Given the description of an element on the screen output the (x, y) to click on. 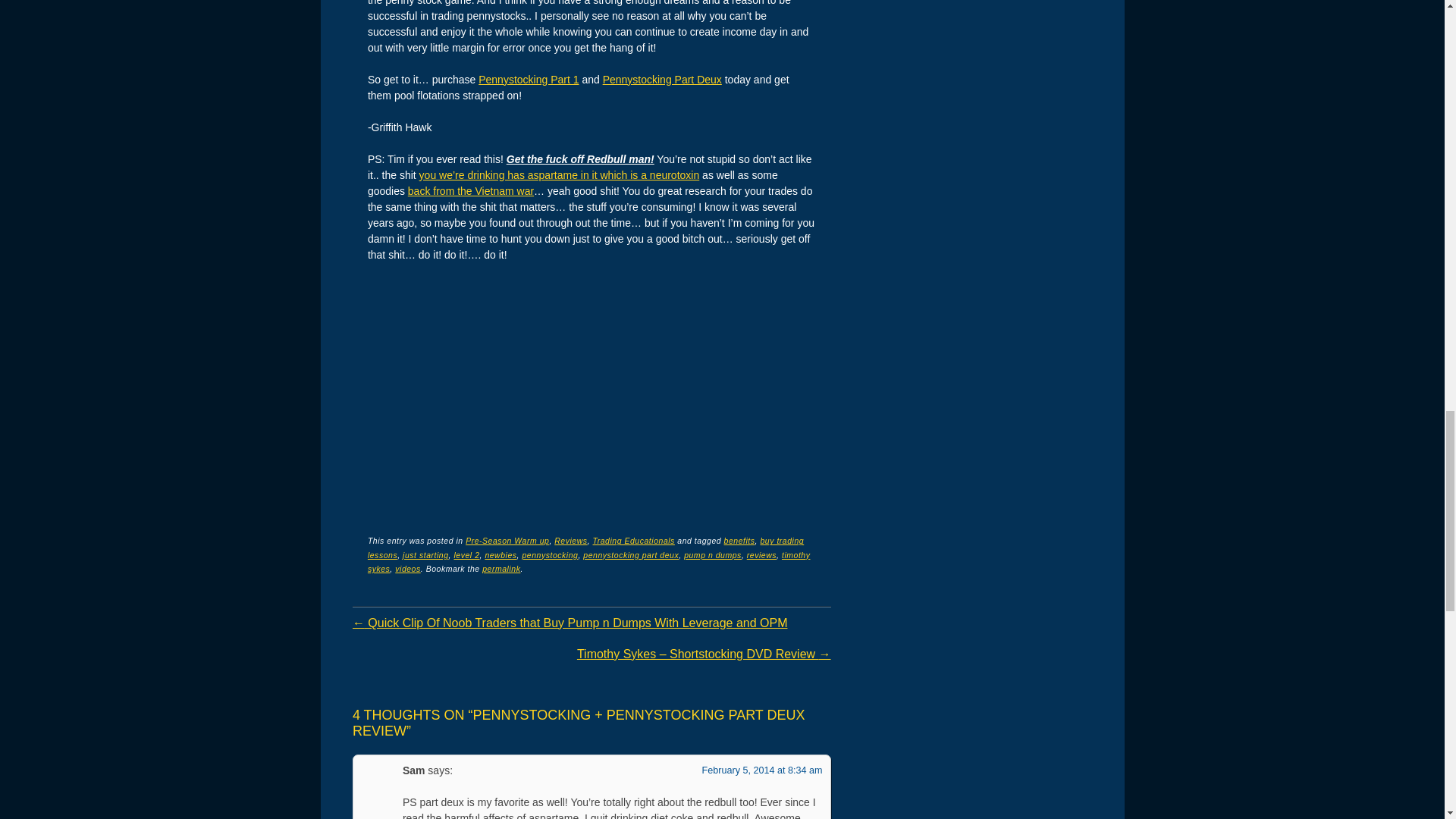
Trading Educationals (633, 540)
Pre-Season Warm up (506, 540)
buy trading lessons (585, 547)
back from the Vietnam war (470, 191)
Pennystocking Part Deux (662, 79)
level 2 (465, 554)
just starting (425, 554)
Reviews (570, 540)
Pennystocking Part 1 (528, 79)
benefits (739, 540)
